Given the description of an element on the screen output the (x, y) to click on. 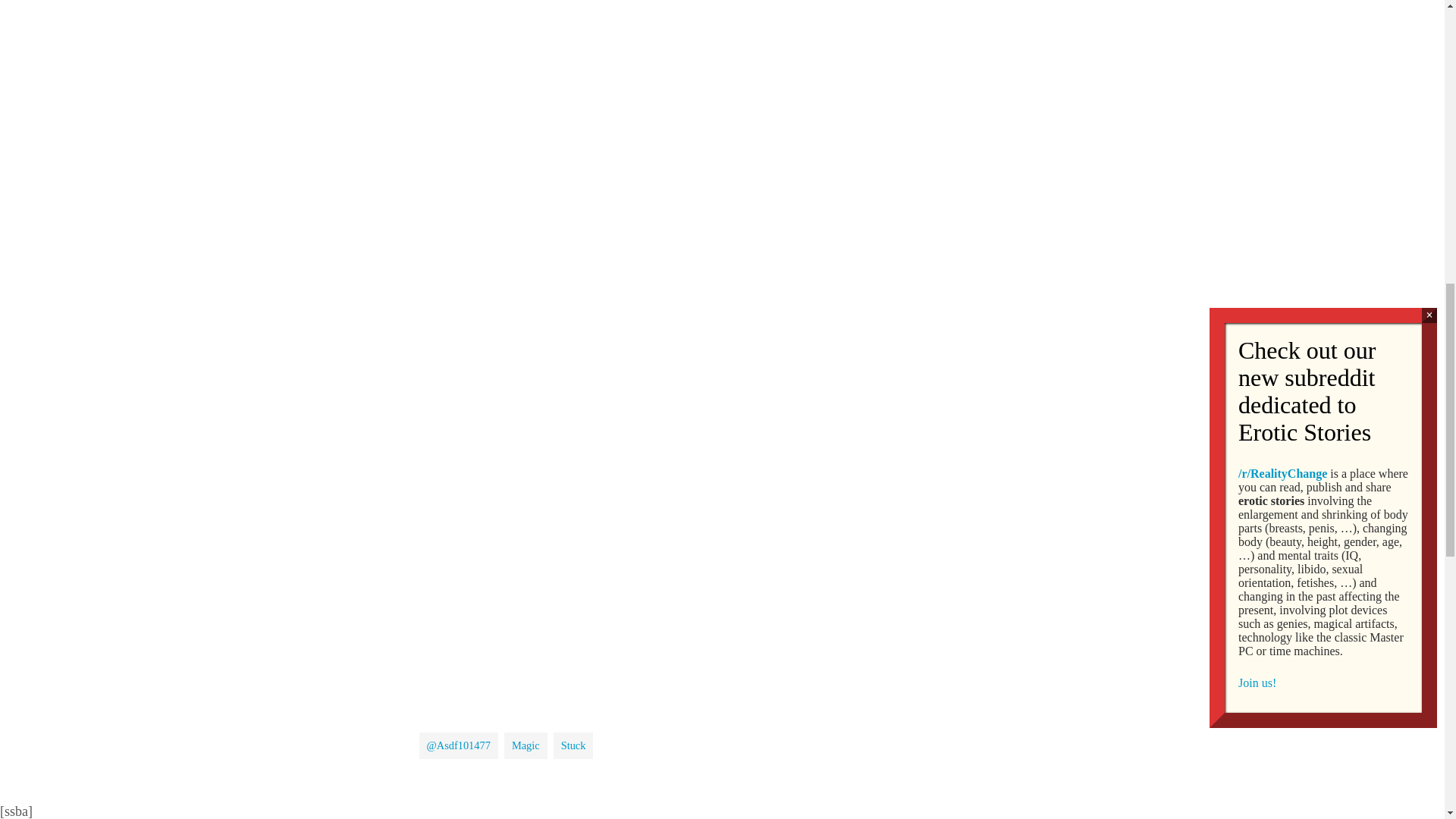
Magic (525, 745)
Stuck (573, 745)
